Given the description of an element on the screen output the (x, y) to click on. 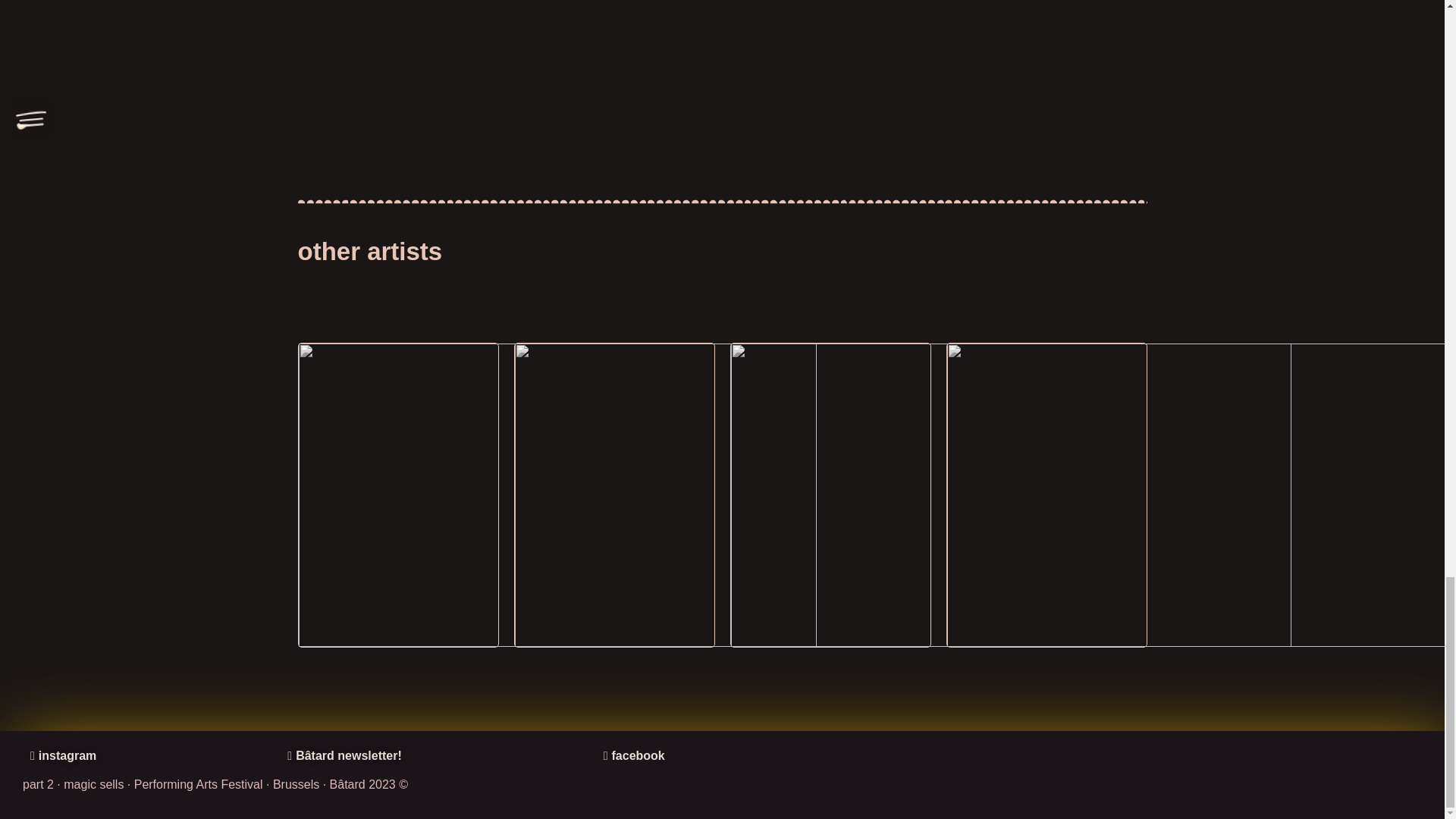
instagram (63, 755)
facebook (633, 755)
